Given the description of an element on the screen output the (x, y) to click on. 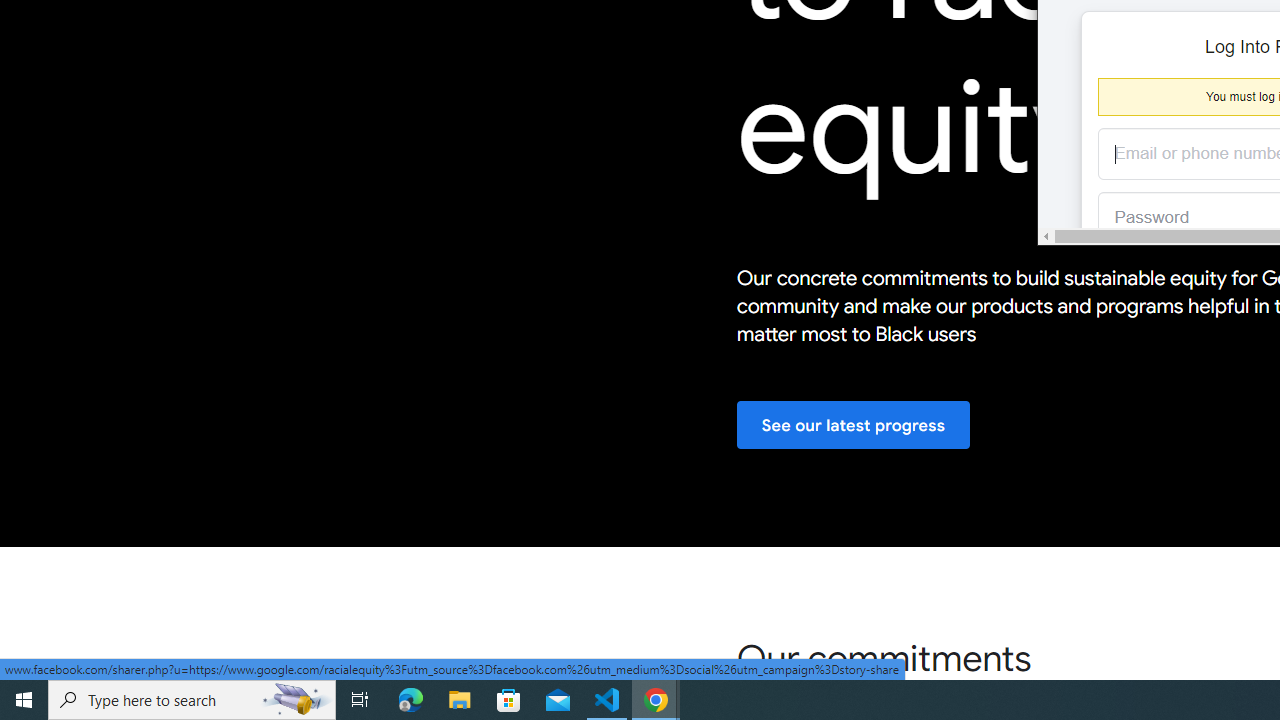
Visual Studio Code - 1 running window (607, 699)
Task View (359, 699)
Microsoft Store (509, 699)
Start (24, 699)
Type here to search (191, 699)
Google Chrome - 4 running windows (656, 699)
File Explorer (460, 699)
Microsoft Edge (411, 699)
Search highlights icon opens search home window (295, 699)
